Given the description of an element on the screen output the (x, y) to click on. 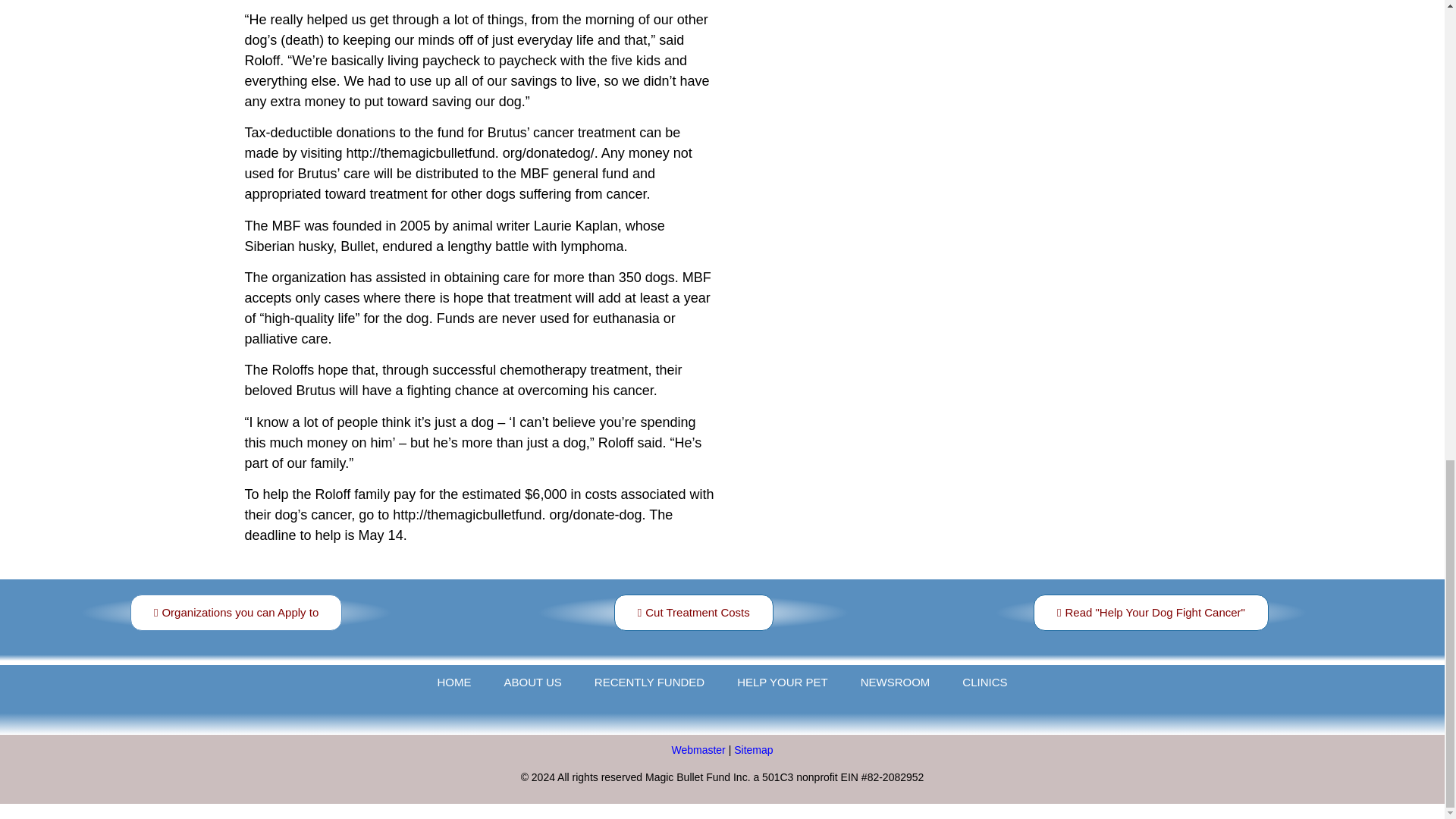
HOME (454, 682)
ABOUT US (532, 682)
Read "Help Your Dog Fight Cancer" (1150, 612)
Cut Treatment Costs (693, 612)
Learn how to cut costs of chemo and surgery. (692, 612)
Organizations you can Apply to (236, 612)
Learn how to cut costs of chemo and surgery. (1150, 612)
RECENTLY FUNDED (648, 682)
HELP YOUR PET (782, 682)
